Given the description of an element on the screen output the (x, y) to click on. 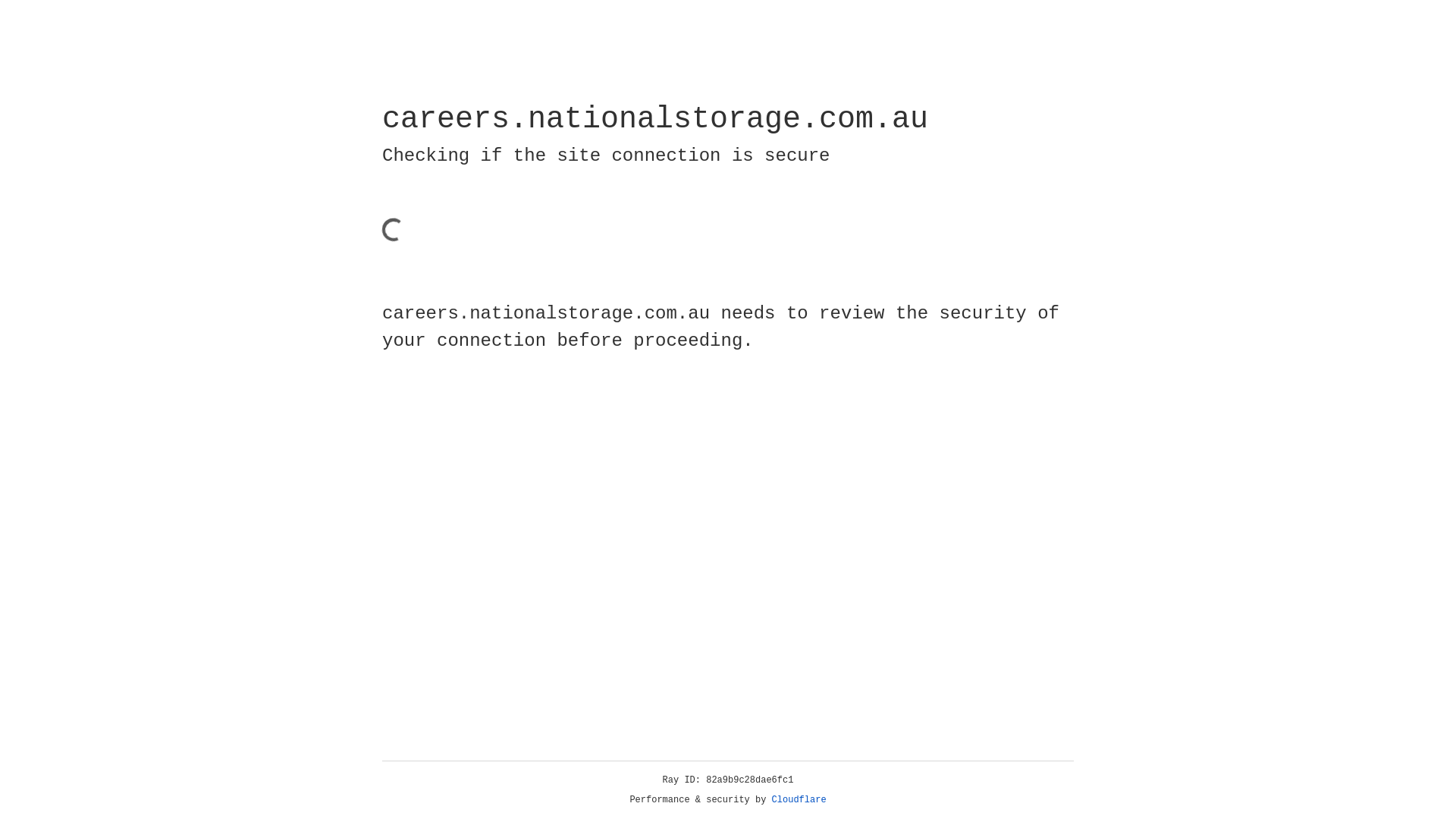
Cloudflare Element type: text (798, 799)
